Given the description of an element on the screen output the (x, y) to click on. 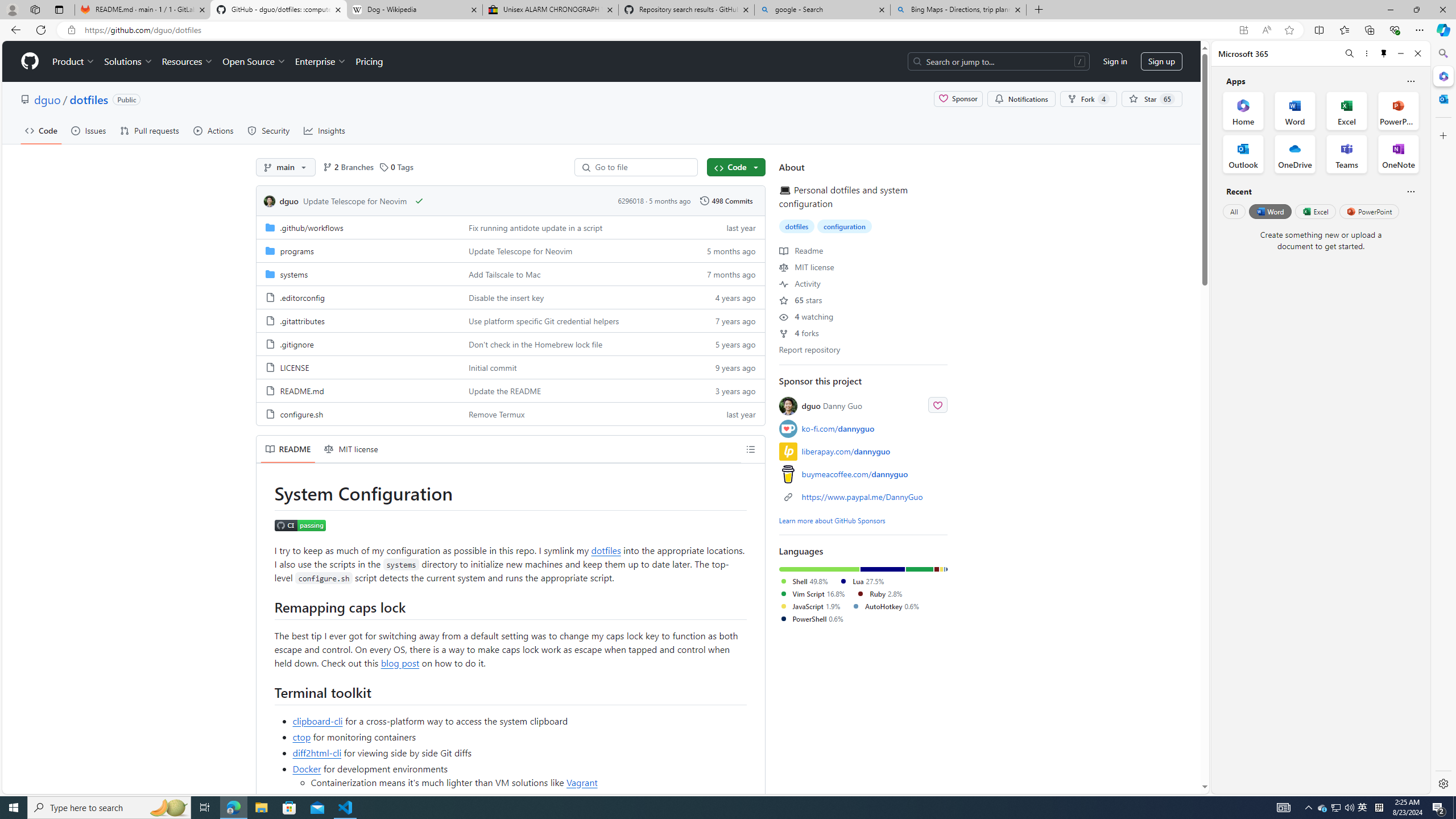
Resources (187, 60)
buy_me_a_coffee (787, 473)
Actions (212, 130)
4 years ago (725, 296)
liberapay.com/dannyguo (845, 451)
Shell 49.8% (803, 580)
AutomationID: folder-row-5 (510, 343)
Home Office App (1243, 110)
programs, (Directory) (296, 250)
configuration (844, 226)
last year (725, 413)
Outlook Office App (1243, 154)
